Given the description of an element on the screen output the (x, y) to click on. 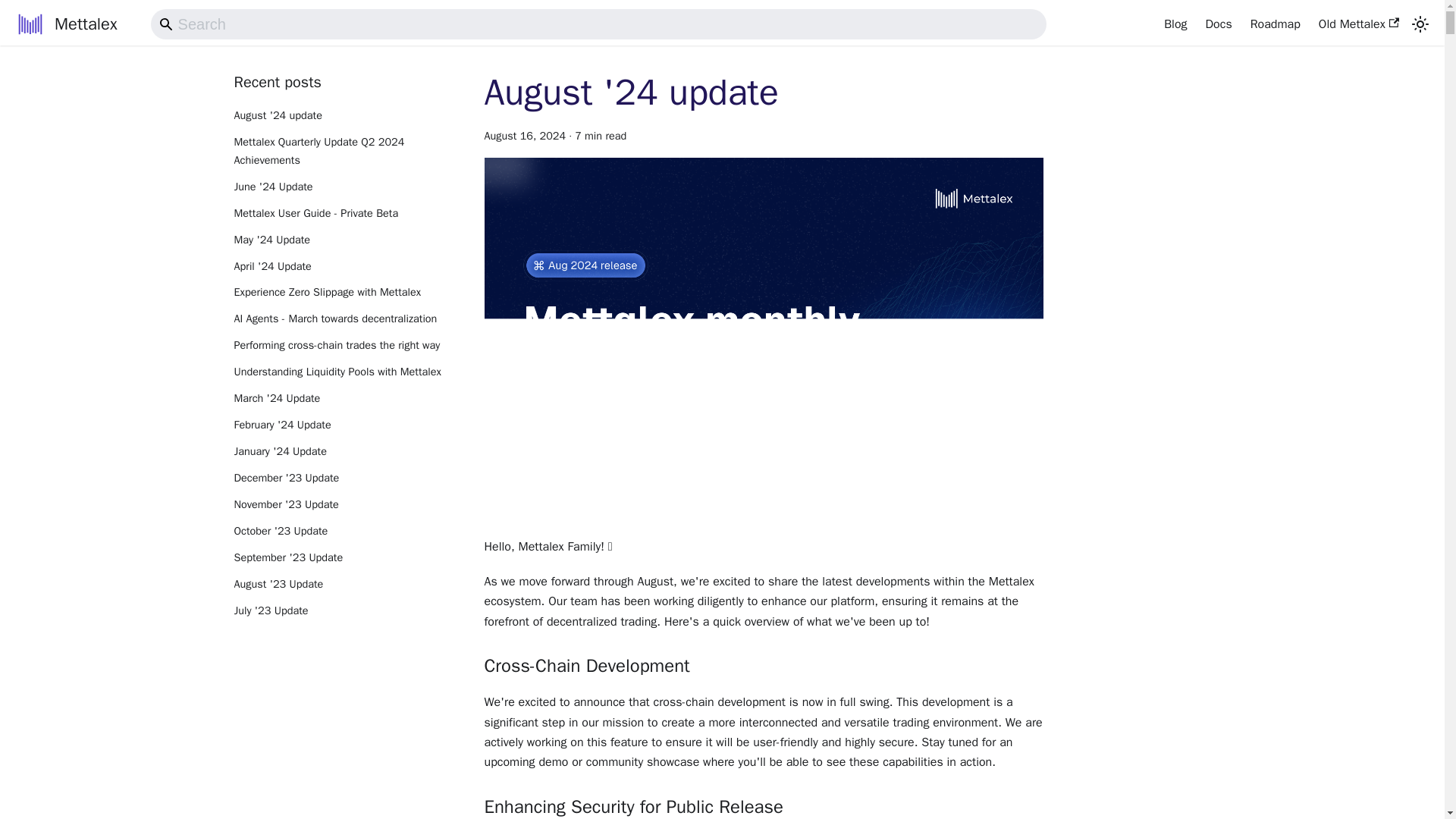
Roadmap (1274, 23)
February '24 Update (346, 425)
May '24 Update (346, 239)
December '23 Update (346, 478)
Experience Zero Slippage with Mettalex (346, 292)
August '24 update (630, 92)
July '23 Update (346, 610)
Performing cross-chain trades the right way (346, 345)
August '23 Update (346, 584)
Old Mettalex (1357, 23)
